Given the description of an element on the screen output the (x, y) to click on. 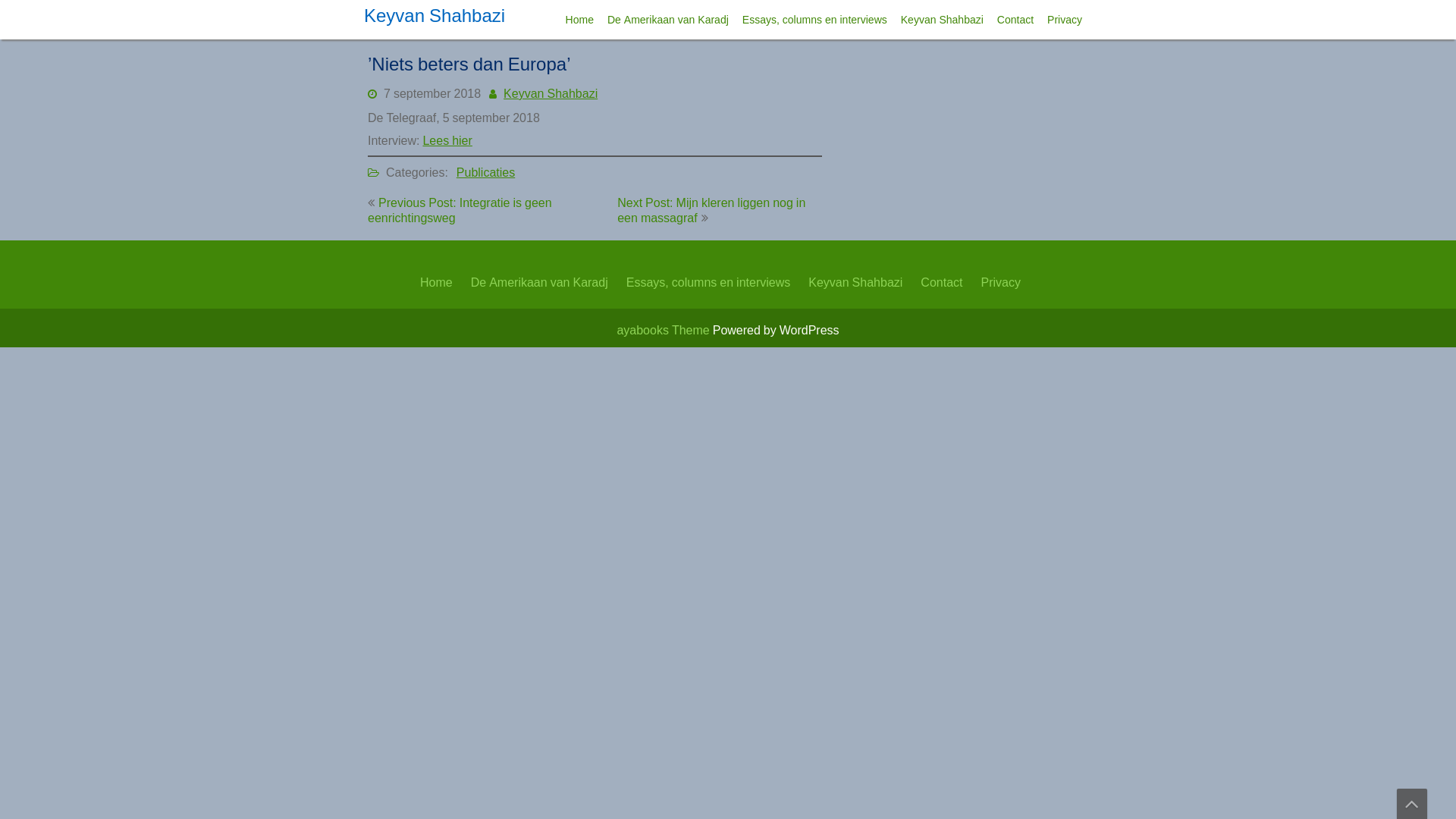
ayabooks Theme Element type: text (664, 329)
De Amerikaan van Karadj Element type: text (539, 281)
Contact Element type: text (1015, 19)
Keyvan Shahbazi Element type: text (550, 92)
Keyvan Shahbazi Element type: text (942, 19)
Previous Post: Integratie is geen eenrichtingsweg Element type: text (459, 209)
Essays, columns en interviews Element type: text (814, 19)
Keyvan Shahbazi Element type: text (434, 15)
Contact Element type: text (941, 281)
Publicaties Element type: text (485, 171)
Privacy Element type: text (1064, 19)
Privacy Element type: text (999, 281)
Lees hier Element type: text (446, 139)
De Amerikaan van Karadj Element type: text (667, 19)
Home Element type: text (579, 19)
Home Element type: text (436, 281)
Next Post: Mijn kleren liggen nog in een massagraf Element type: text (711, 209)
Keyvan Shahbazi Element type: text (855, 281)
Essays, columns en interviews Element type: text (708, 281)
